Given the description of an element on the screen output the (x, y) to click on. 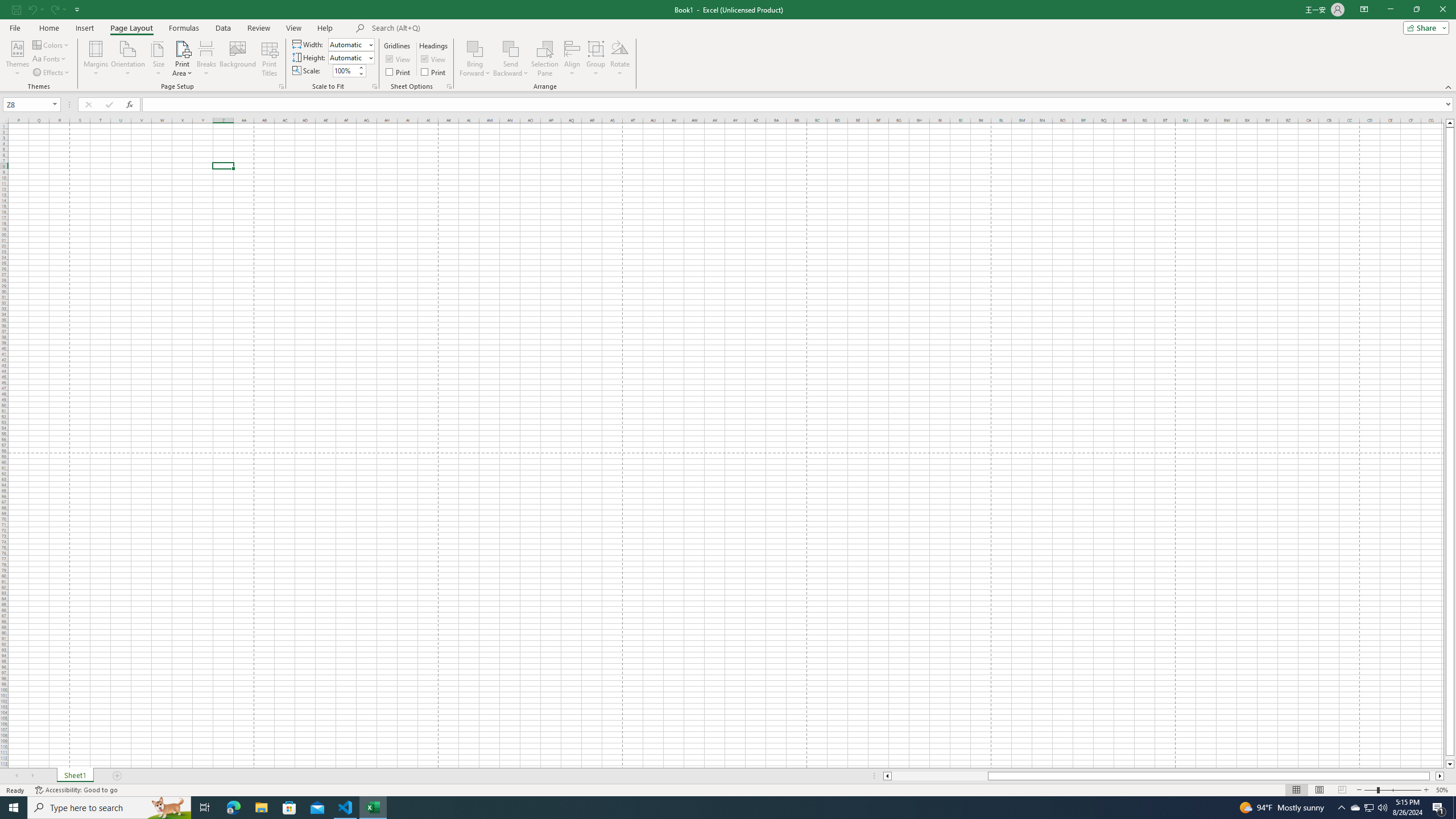
Sheet Options (449, 85)
Themes (17, 58)
Height (347, 57)
Height (350, 56)
Print Titles (269, 58)
Selection Pane... (544, 58)
